Given the description of an element on the screen output the (x, y) to click on. 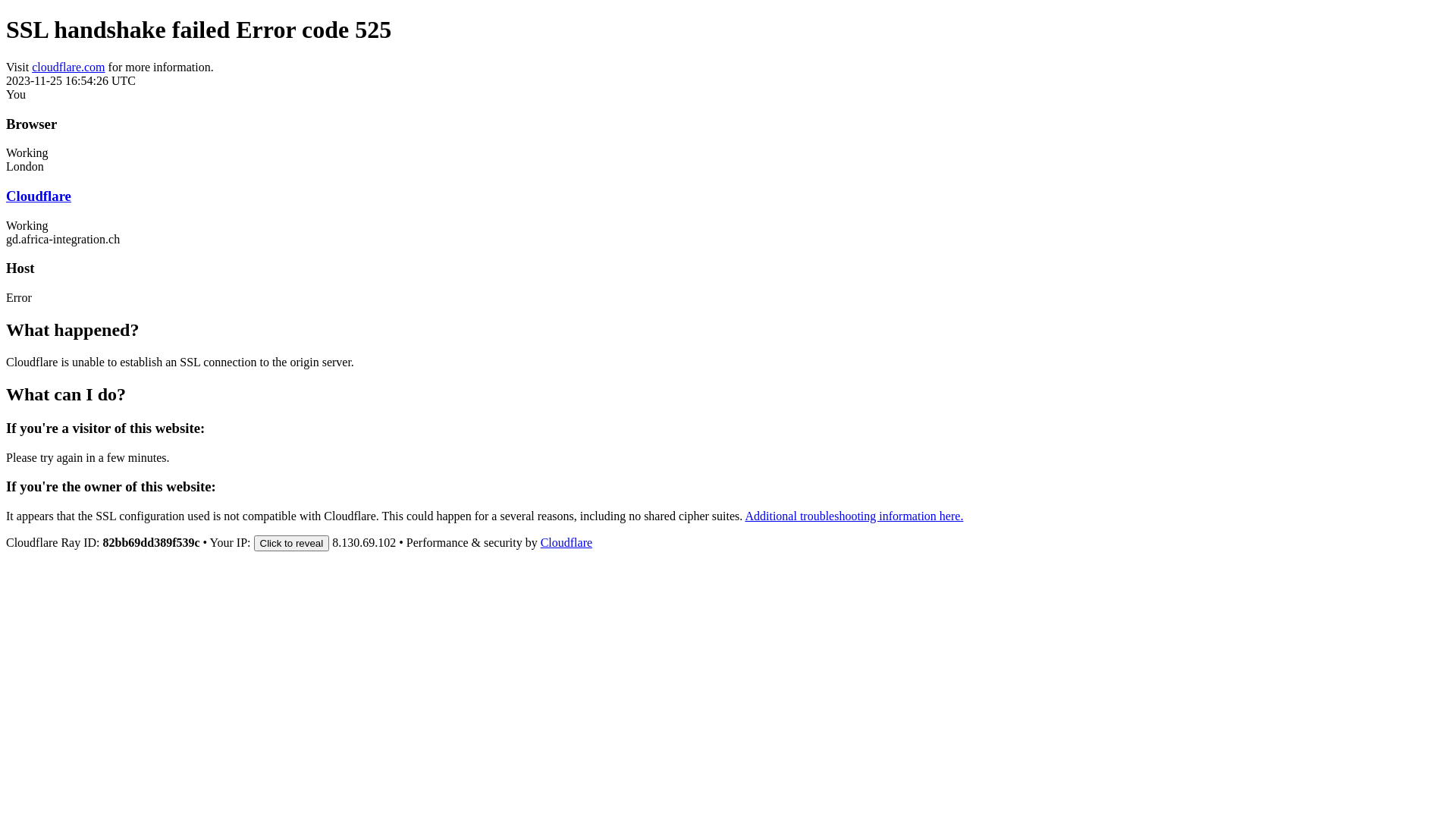
Click to reveal Element type: text (291, 543)
cloudflare.com Element type: text (67, 66)
Cloudflare Element type: text (38, 195)
Additional troubleshooting information here. Element type: text (853, 515)
Cloudflare Element type: text (566, 542)
